Given the description of an element on the screen output the (x, y) to click on. 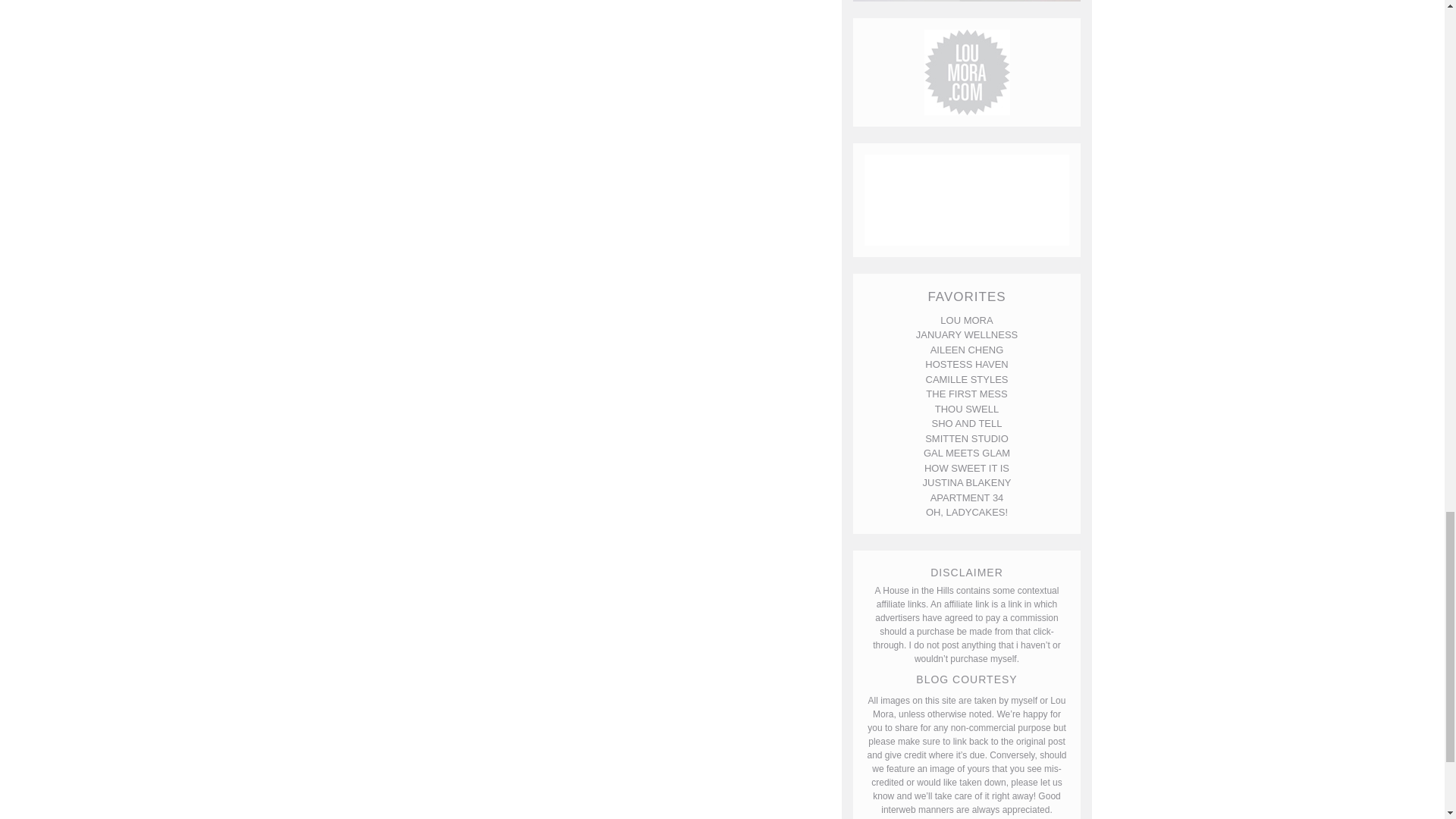
Hostess Haven (965, 364)
